Given the description of an element on the screen output the (x, y) to click on. 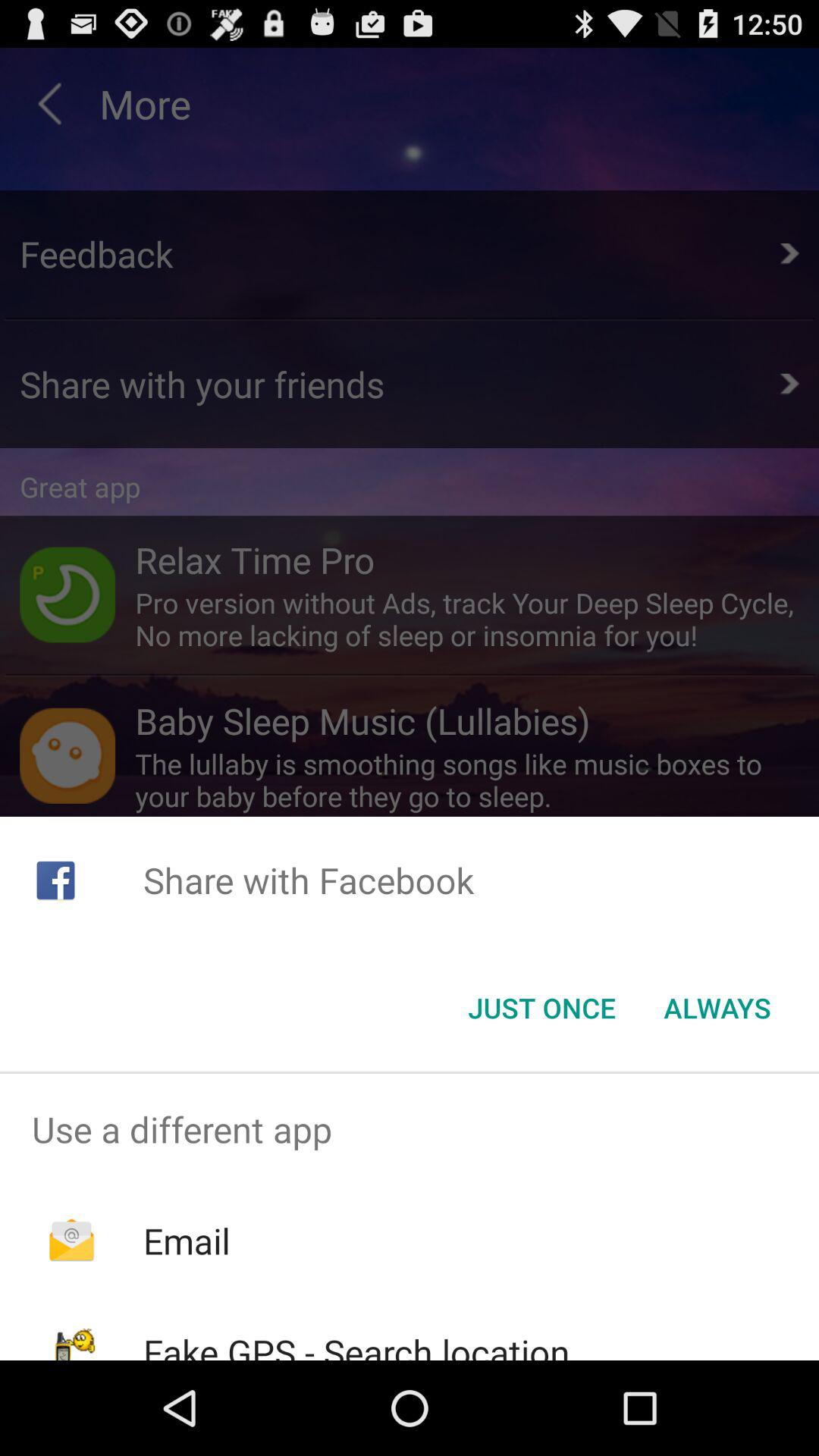
open item above the fake gps search item (186, 1240)
